Given the description of an element on the screen output the (x, y) to click on. 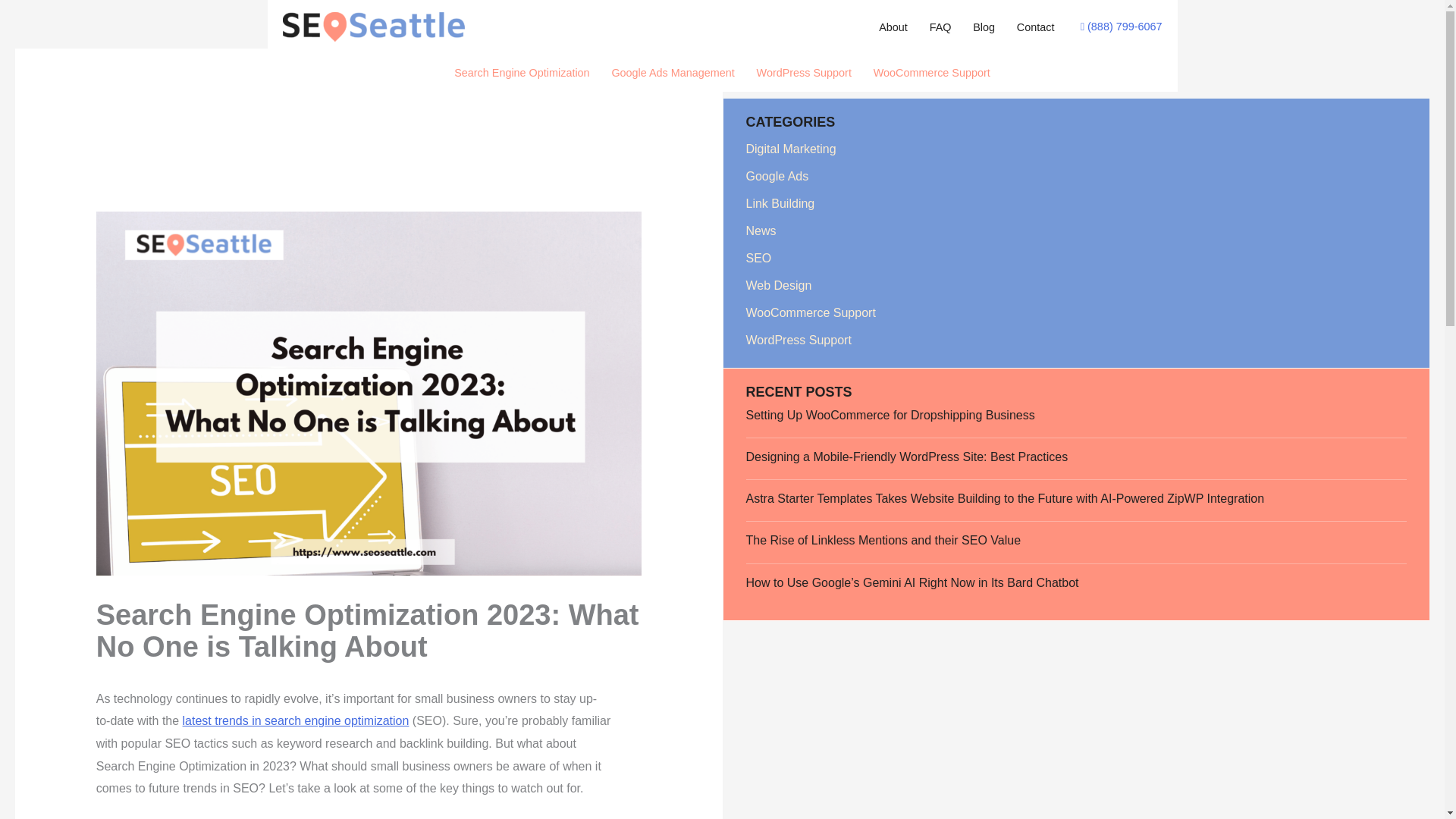
WordPress Support (798, 339)
Search Engine Optimization (521, 72)
About (892, 26)
WooCommerce Support (931, 72)
Contact (1035, 26)
News (760, 230)
WooCommerce Support (810, 312)
Setting Up WooCommerce for Dropshipping Business (890, 414)
SEO (758, 257)
